Given the description of an element on the screen output the (x, y) to click on. 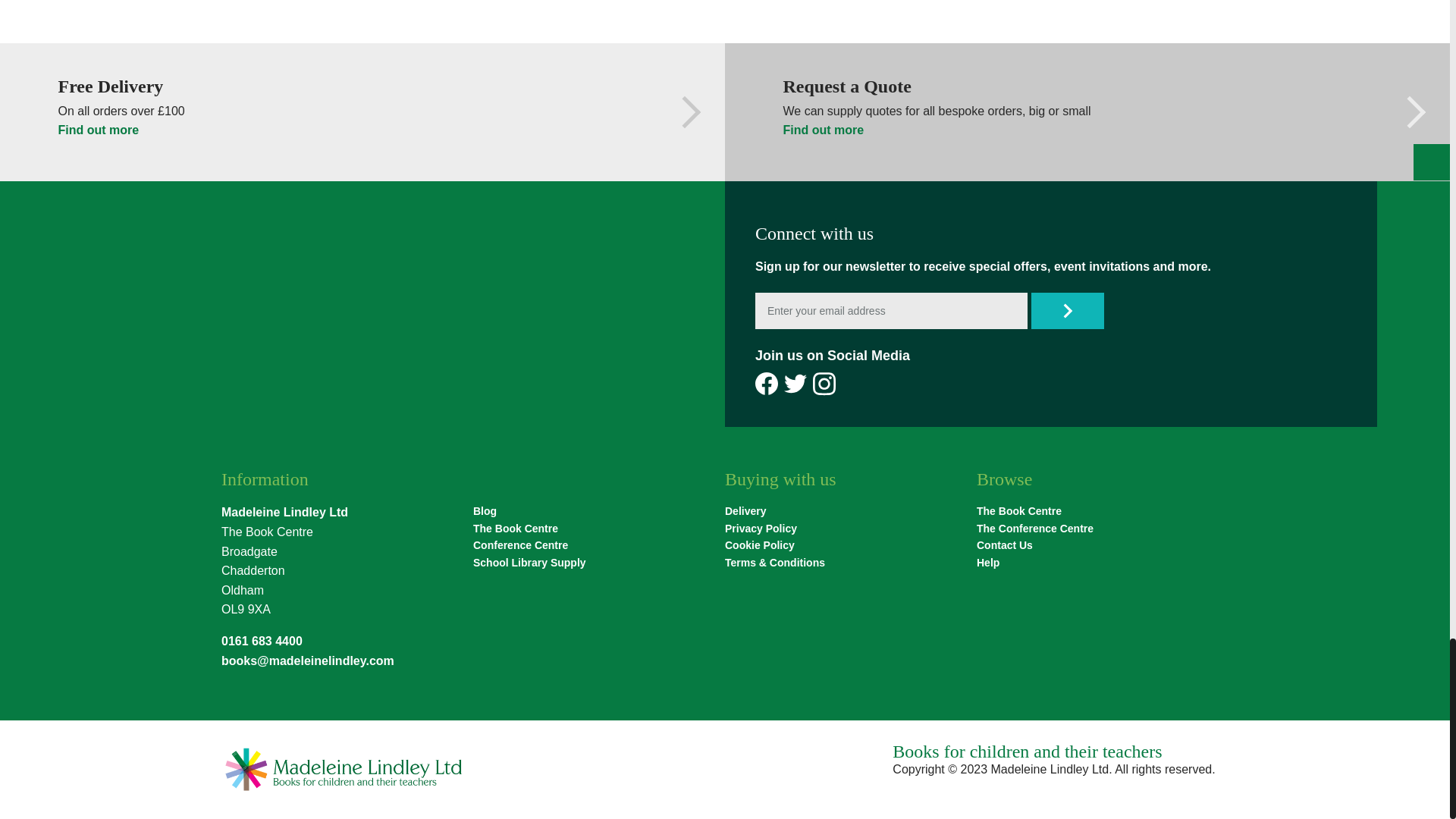
The Conference Centre (1034, 528)
Madeleine Lindley Ltd - Facebook Profile (766, 383)
Contact Madeleine Lindley (1004, 545)
Madeleine Lindley Ltd - Twitter Profile (795, 383)
The Book Centre (1018, 510)
Delivery Information (745, 510)
FAQs (987, 562)
